Given the description of an element on the screen output the (x, y) to click on. 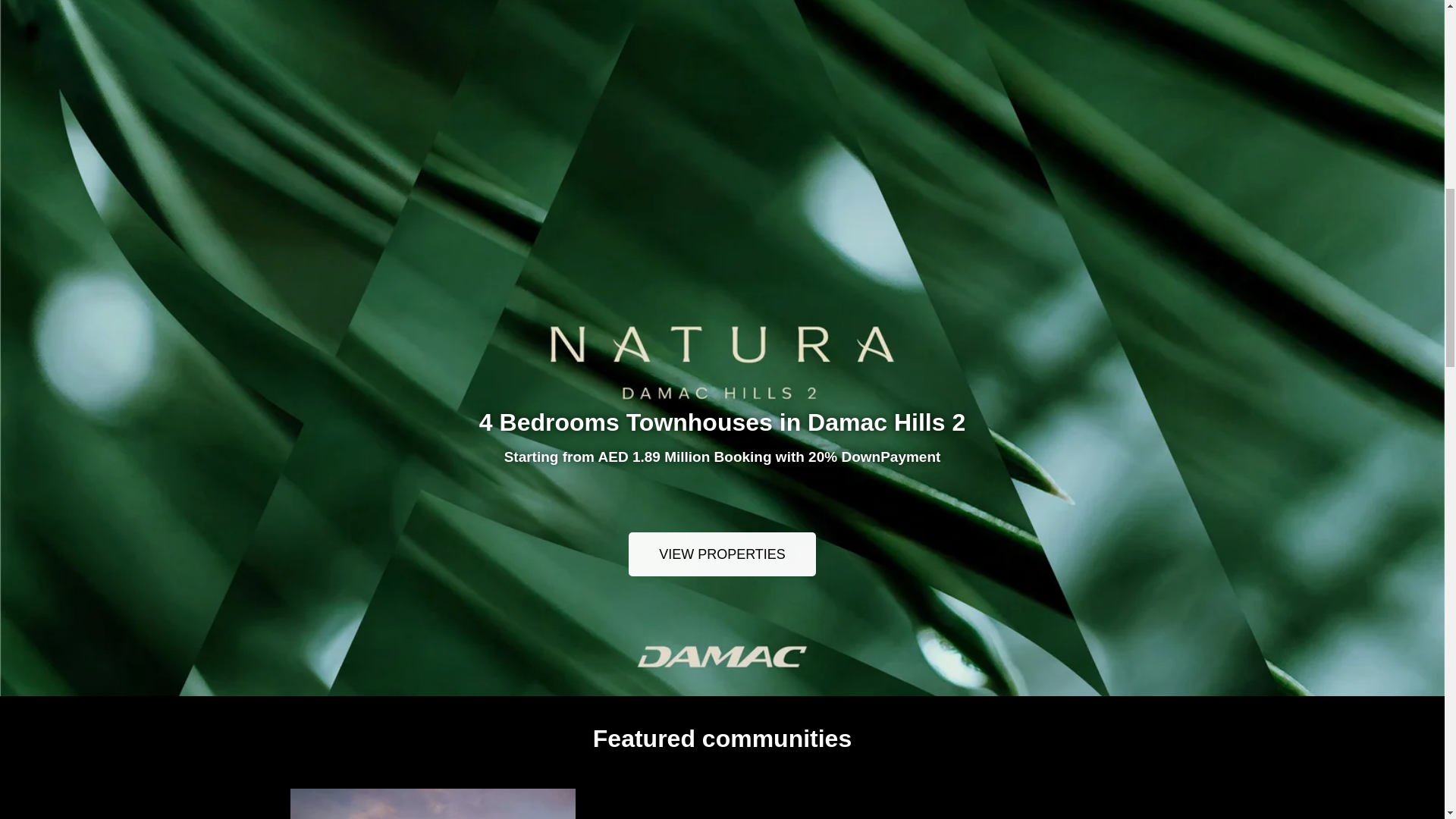
damac hills 2 (1011, 818)
VIEW PROPERTIES (721, 554)
